Given the description of an element on the screen output the (x, y) to click on. 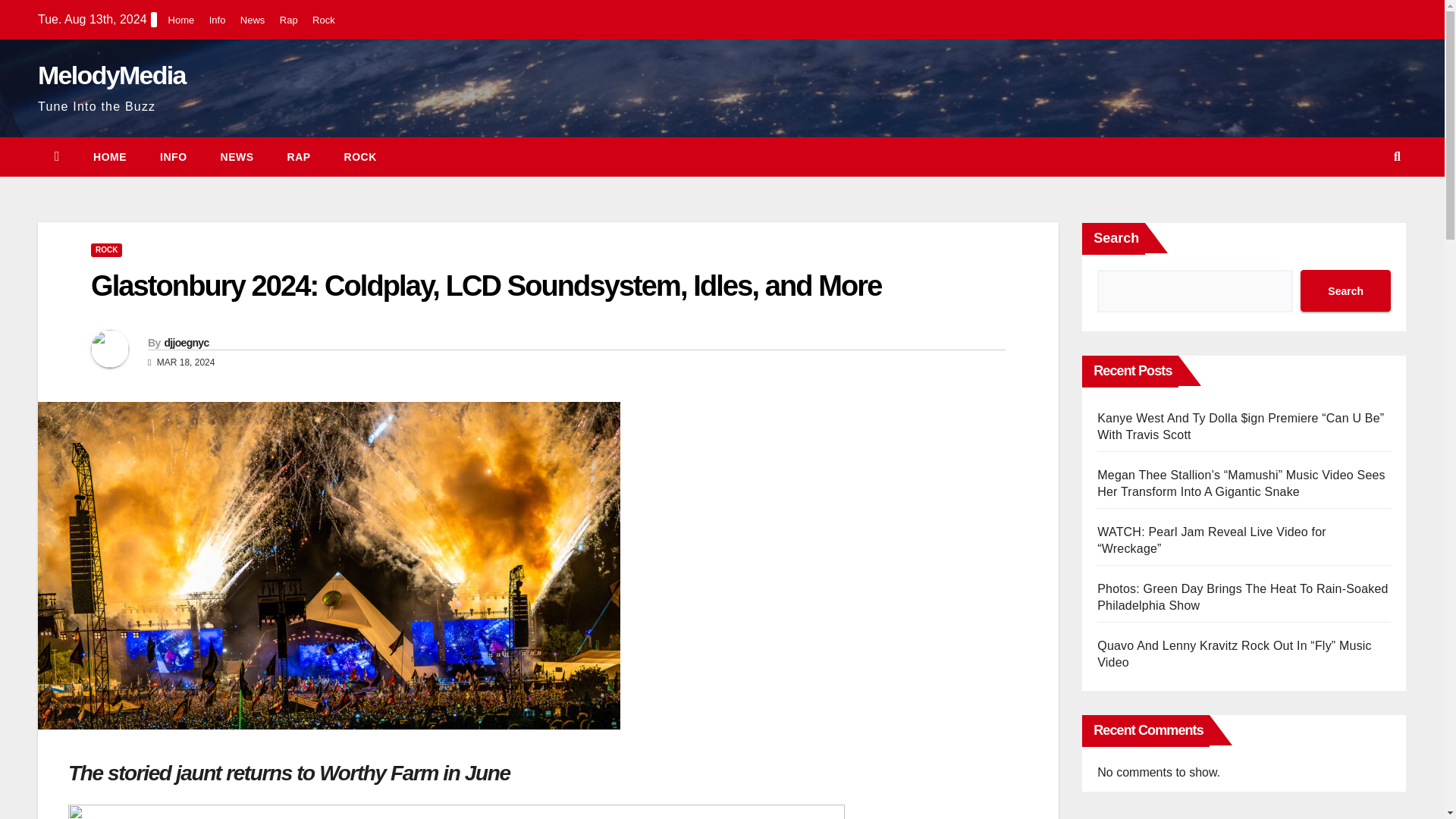
Rap (298, 156)
ROCK (106, 250)
News (252, 19)
Home (109, 156)
Rock (360, 156)
INFO (172, 156)
ROCK (360, 156)
Glastonbury 2024: Coldplay, LCD Soundsystem, Idles, and More (485, 286)
MelodyMedia (111, 74)
